Given the description of an element on the screen output the (x, y) to click on. 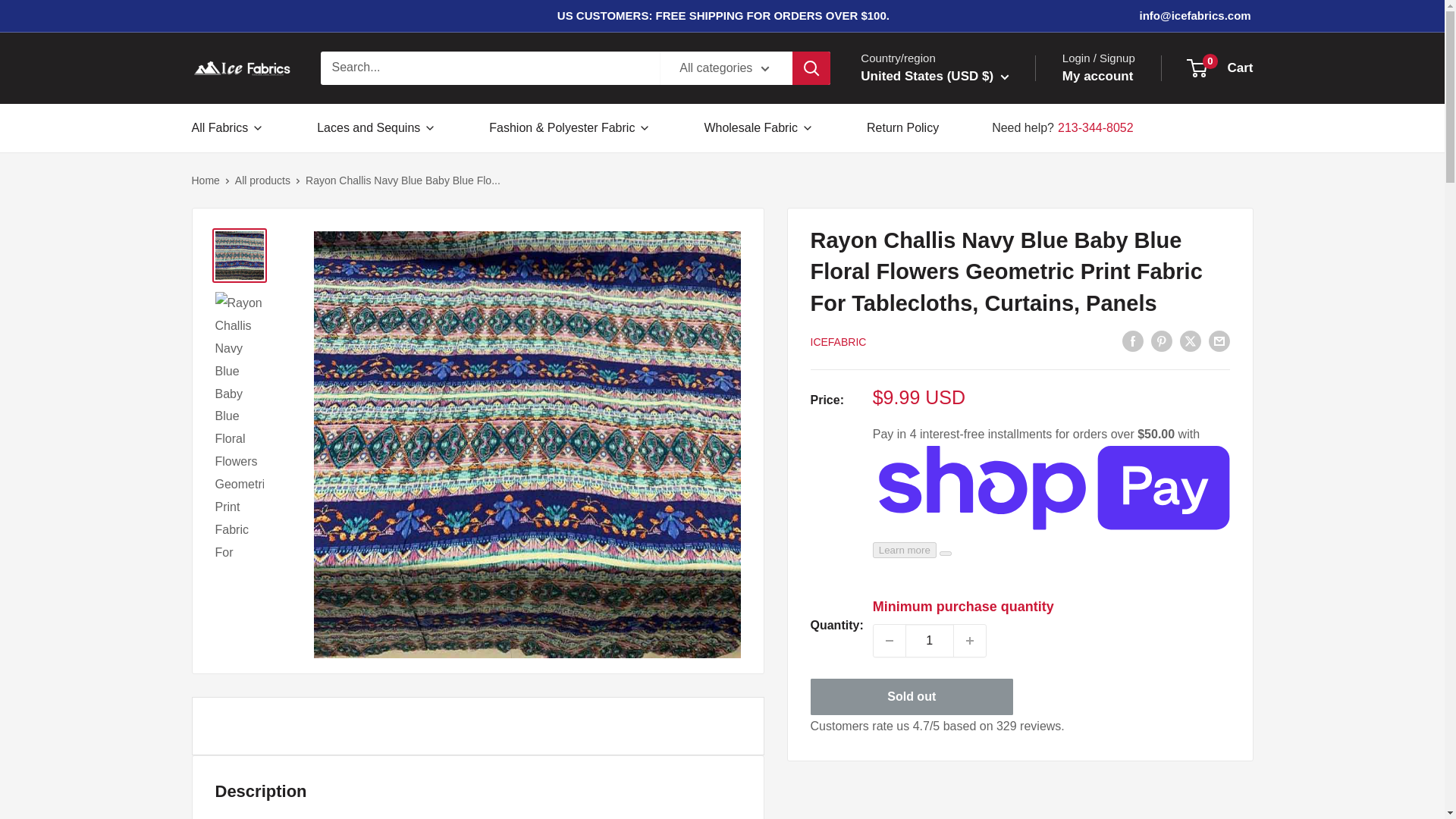
Decrease quantity by 1 (889, 640)
1 (929, 640)
Increase quantity by 1 (969, 640)
